Given the description of an element on the screen output the (x, y) to click on. 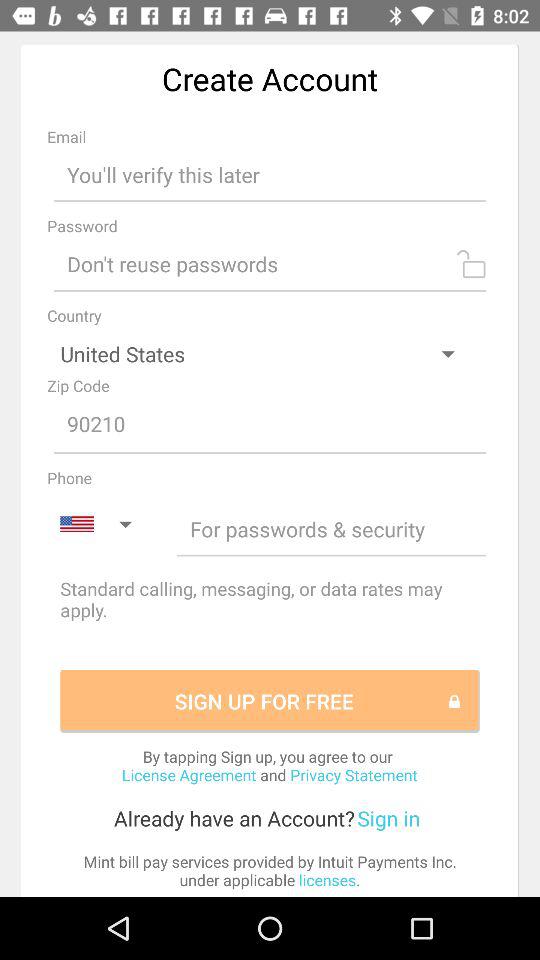
toggle email (270, 174)
